Given the description of an element on the screen output the (x, y) to click on. 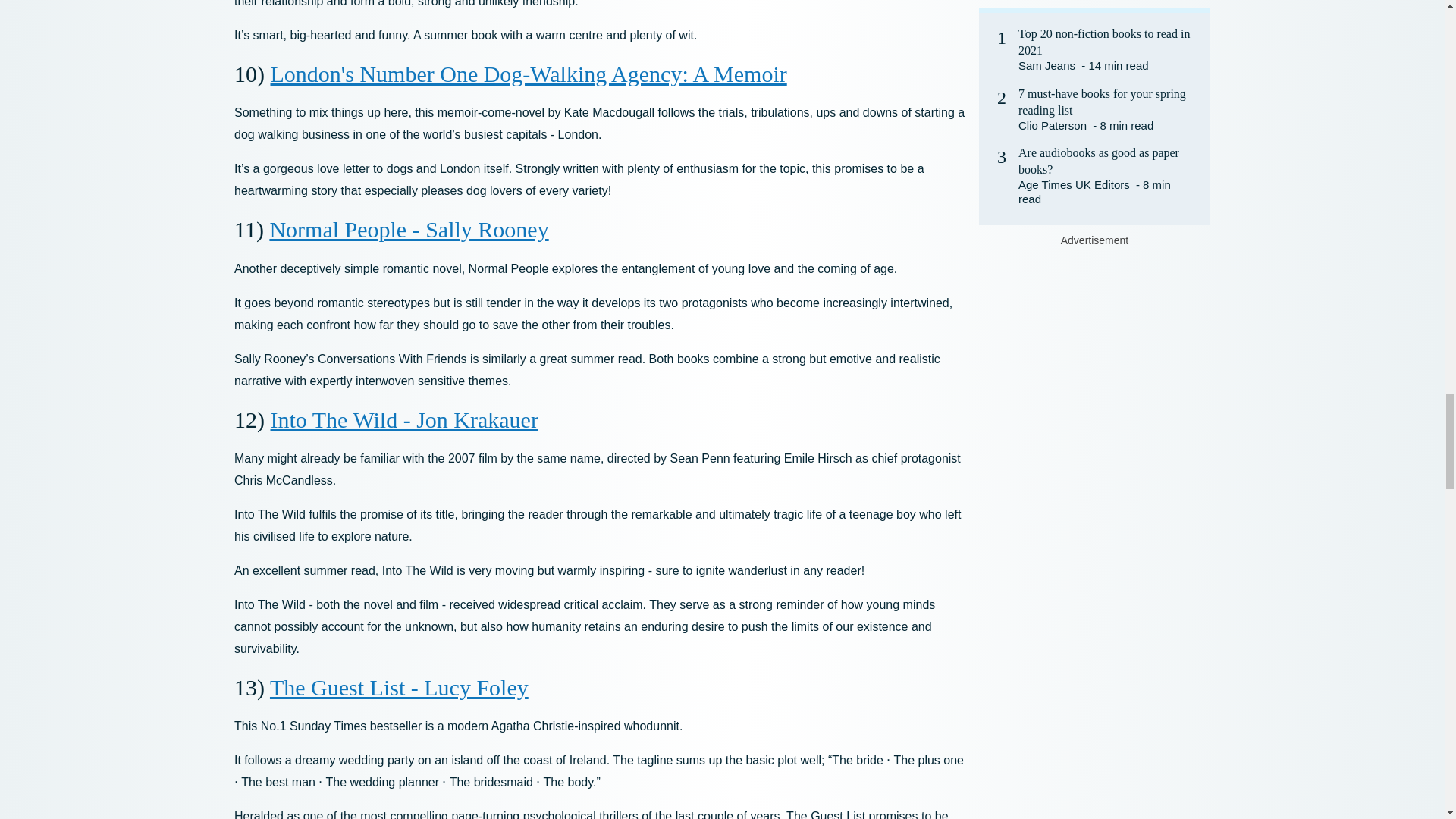
The Guest List - Lucy Foley (398, 687)
London's Number One Dog-Walking Agency: A Memoir (527, 73)
Into The Wild - Jon Krakauer (403, 419)
Normal People - Sally Rooney (408, 229)
